Given the description of an element on the screen output the (x, y) to click on. 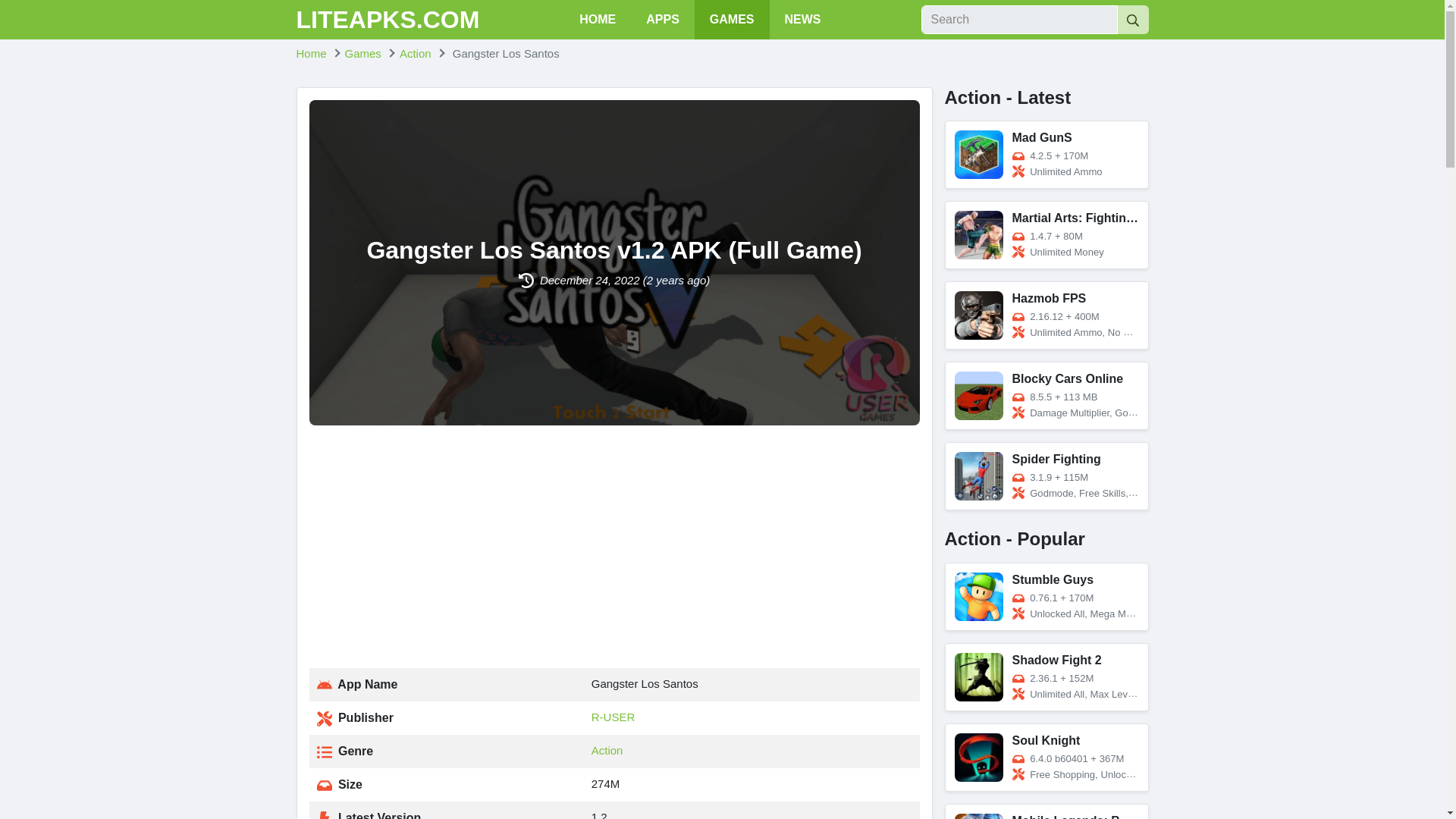
Action (607, 749)
GAMES (732, 19)
NEWS (802, 19)
Mad GunS (1046, 154)
APPS (662, 19)
LITEAPKS.COM (387, 19)
Home (310, 52)
HOME (597, 19)
Action (414, 52)
